Given the description of an element on the screen output the (x, y) to click on. 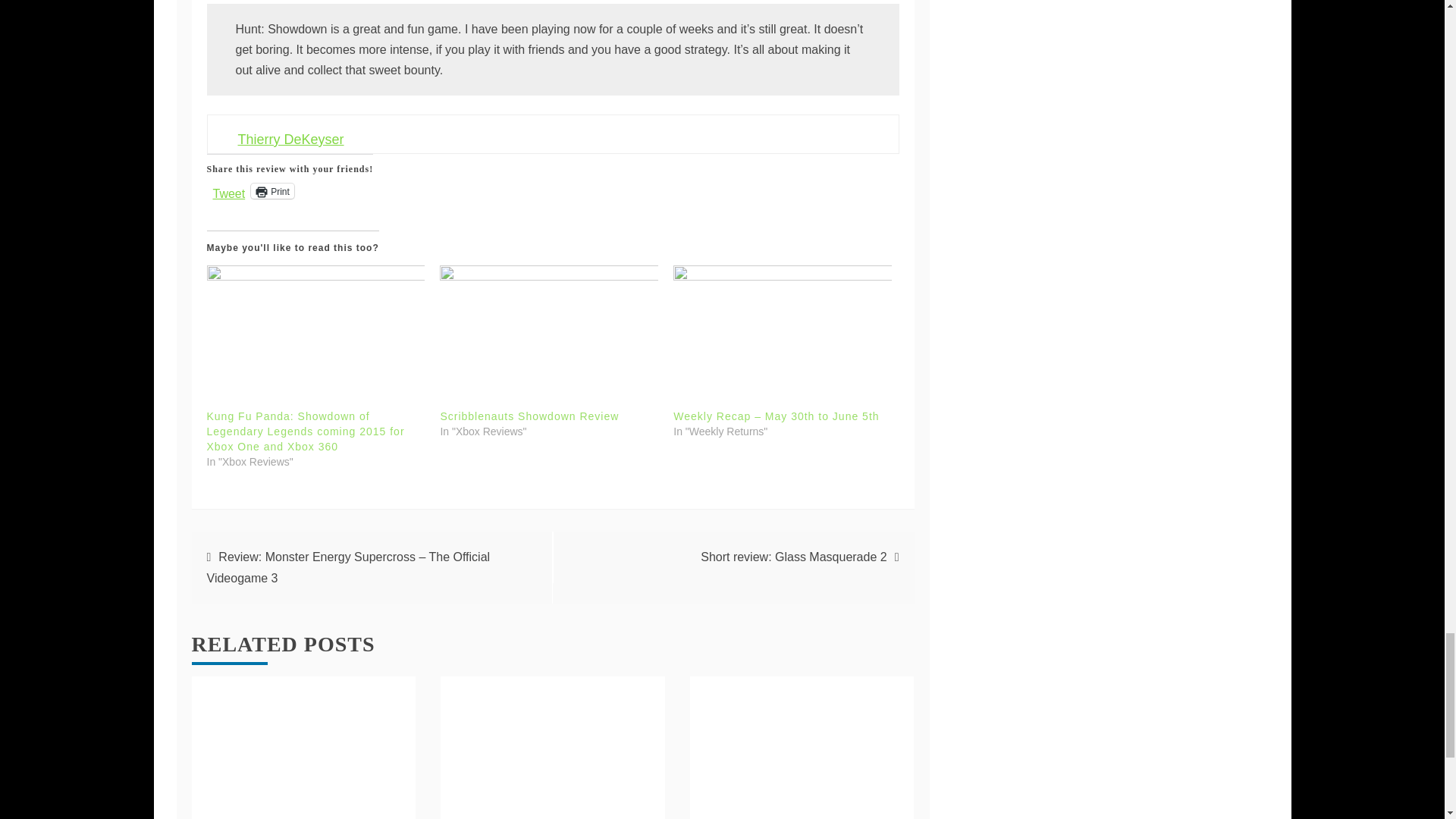
Tweet (228, 190)
Scribblenauts Showdown Review (548, 327)
Short review: Glass Masquerade 2 (793, 556)
Scribblenauts Showdown Review (528, 416)
Thierry DeKeyser (290, 139)
Click to print (272, 191)
Print (272, 191)
Scribblenauts Showdown Review (528, 416)
